Given the description of an element on the screen output the (x, y) to click on. 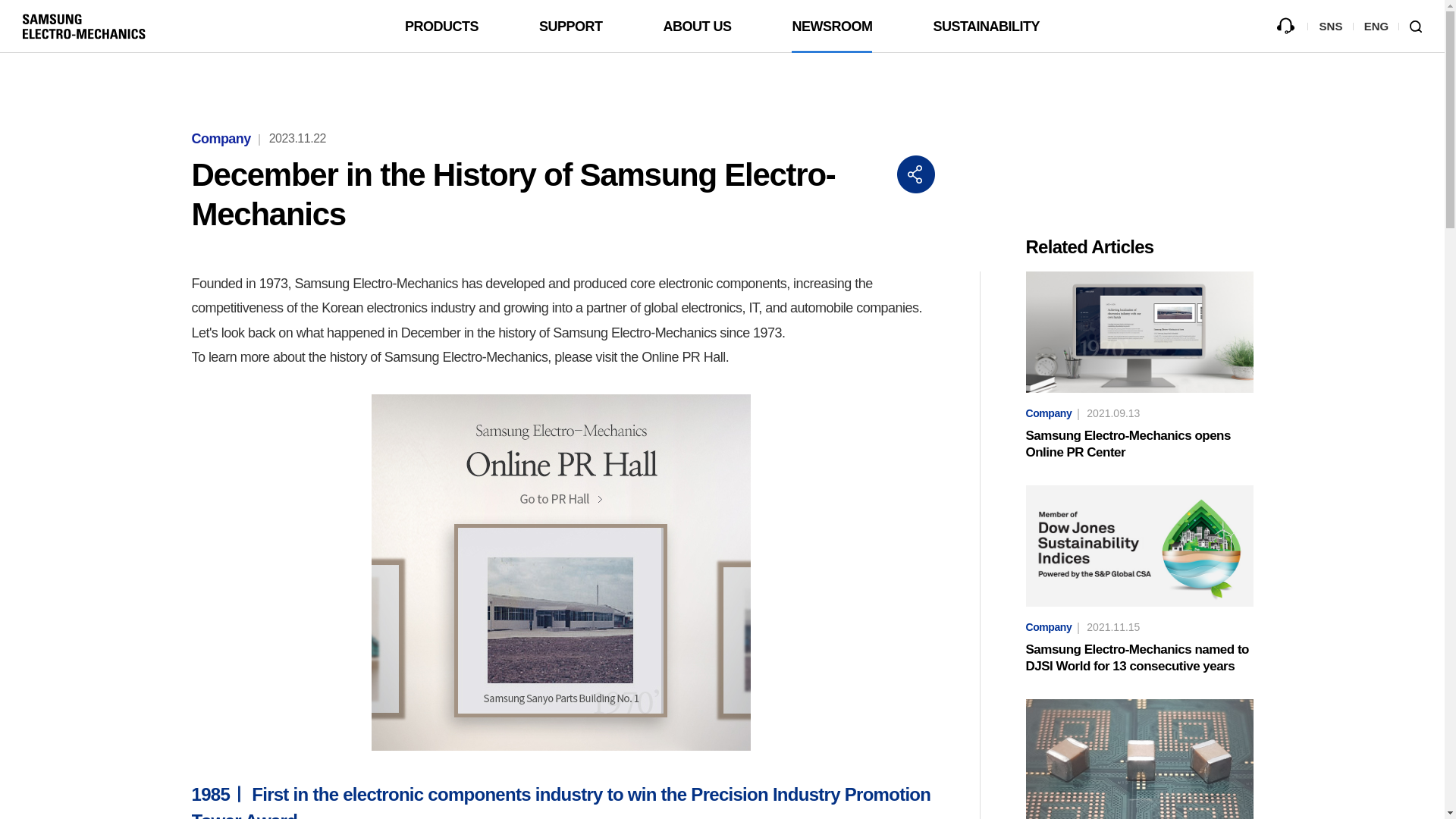
PRODUCTS (441, 26)
SUPPORT (570, 26)
Close (915, 174)
